Given the description of an element on the screen output the (x, y) to click on. 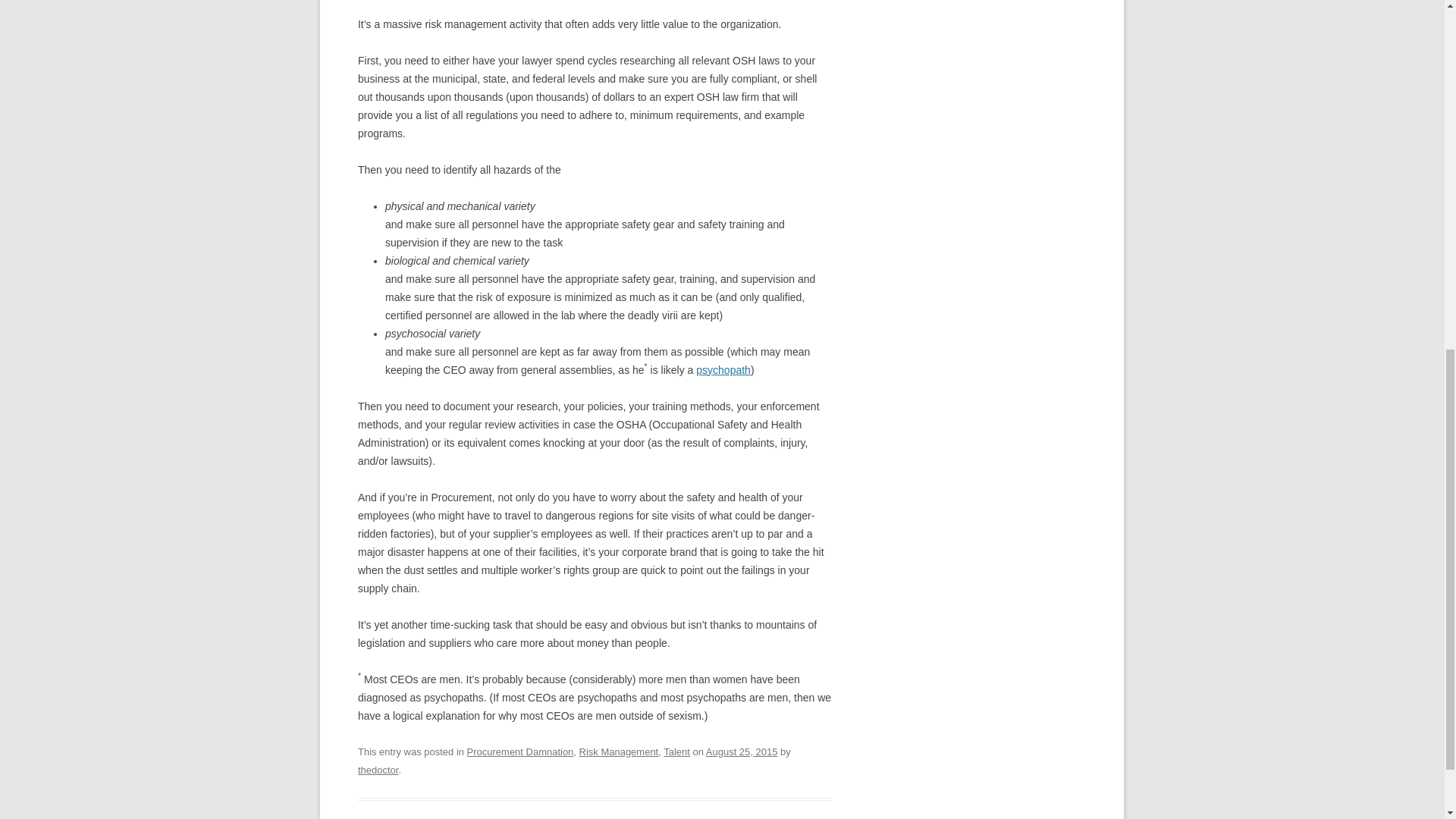
August 25, 2015 (741, 751)
View all posts by thedoctor (377, 769)
5:55 am (741, 751)
psychopath (723, 369)
Procurement Damnation (520, 751)
Risk Management (619, 751)
Talent (676, 751)
thedoctor (377, 769)
